Given the description of an element on the screen output the (x, y) to click on. 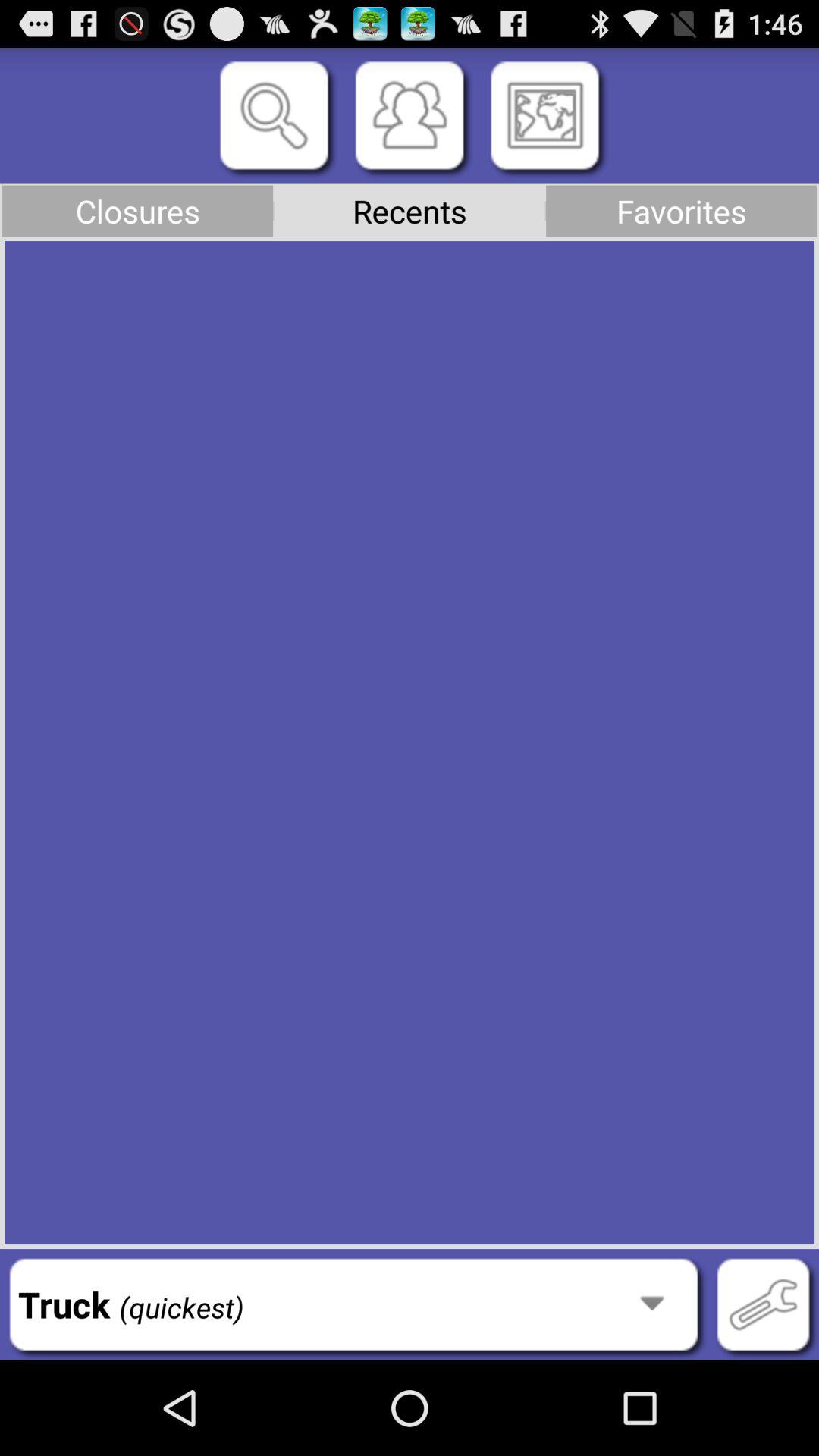
press the item above the recents item (544, 115)
